Given the description of an element on the screen output the (x, y) to click on. 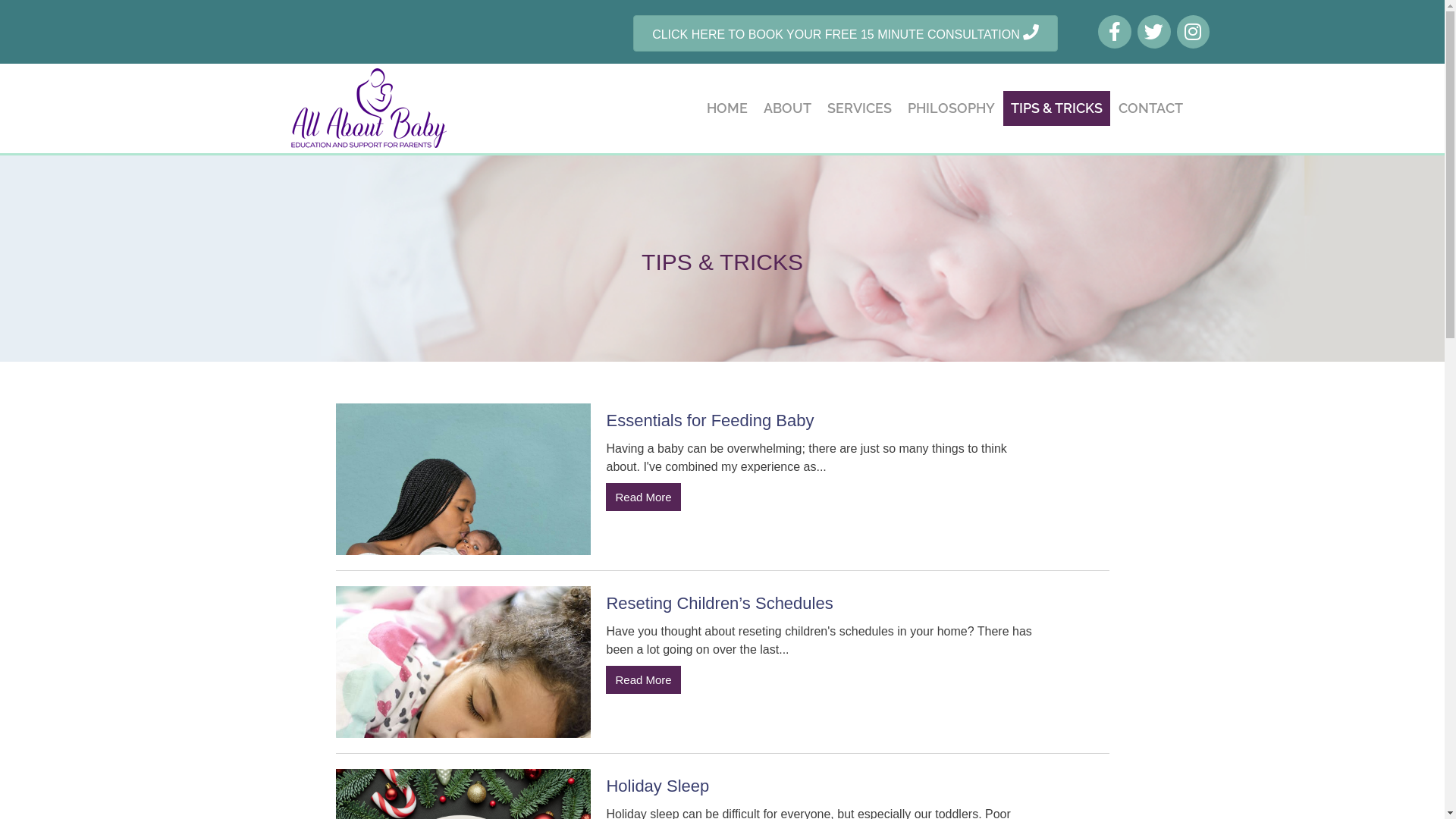
SERVICES Element type: text (859, 108)
TIPS & TRICKS Element type: text (1056, 108)
All-About-Baby-sleep-coaching-logo Element type: hover (366, 108)
PHILOSOPHY Element type: text (951, 108)
Read More Element type: text (642, 679)
ABOUT Element type: text (787, 108)
HOME Element type: text (727, 108)
Holiday Sleep Element type: text (657, 785)
CLICK HERE TO BOOK YOUR FREE 15 MINUTE CONSULTATION Element type: text (845, 33)
Essentials for Feeding Baby Element type: text (709, 420)
Read More Element type: text (642, 497)
CONTACT Element type: text (1150, 108)
